Given the description of an element on the screen output the (x, y) to click on. 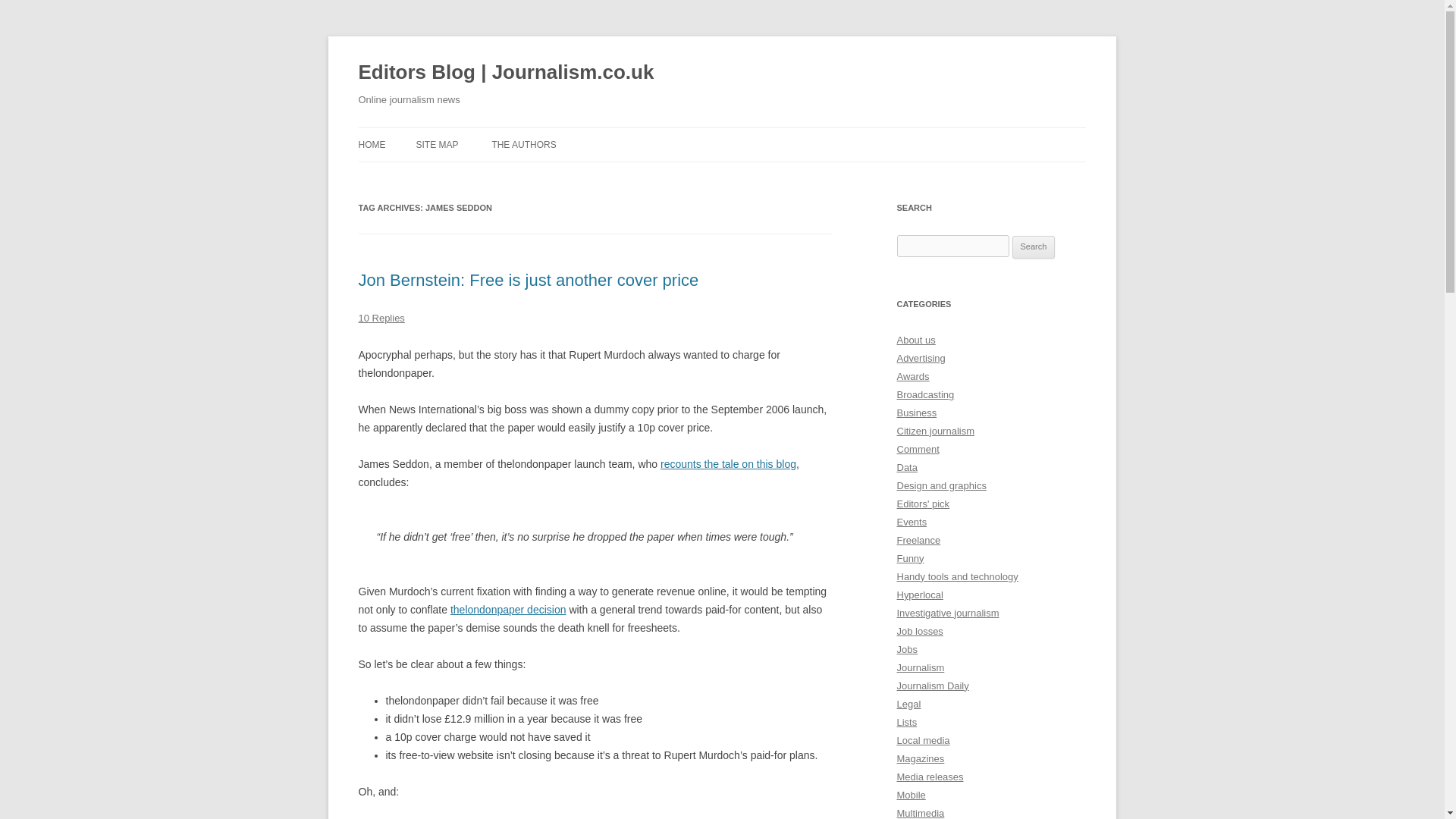
thelondonpaper decision (507, 609)
SITE MAP (436, 144)
recounts the tale on this blog (728, 463)
10 Replies (381, 317)
THE AUTHORS (524, 144)
Jon Bernstein: Free is just another cover price (528, 280)
Search (1033, 246)
